Given the description of an element on the screen output the (x, y) to click on. 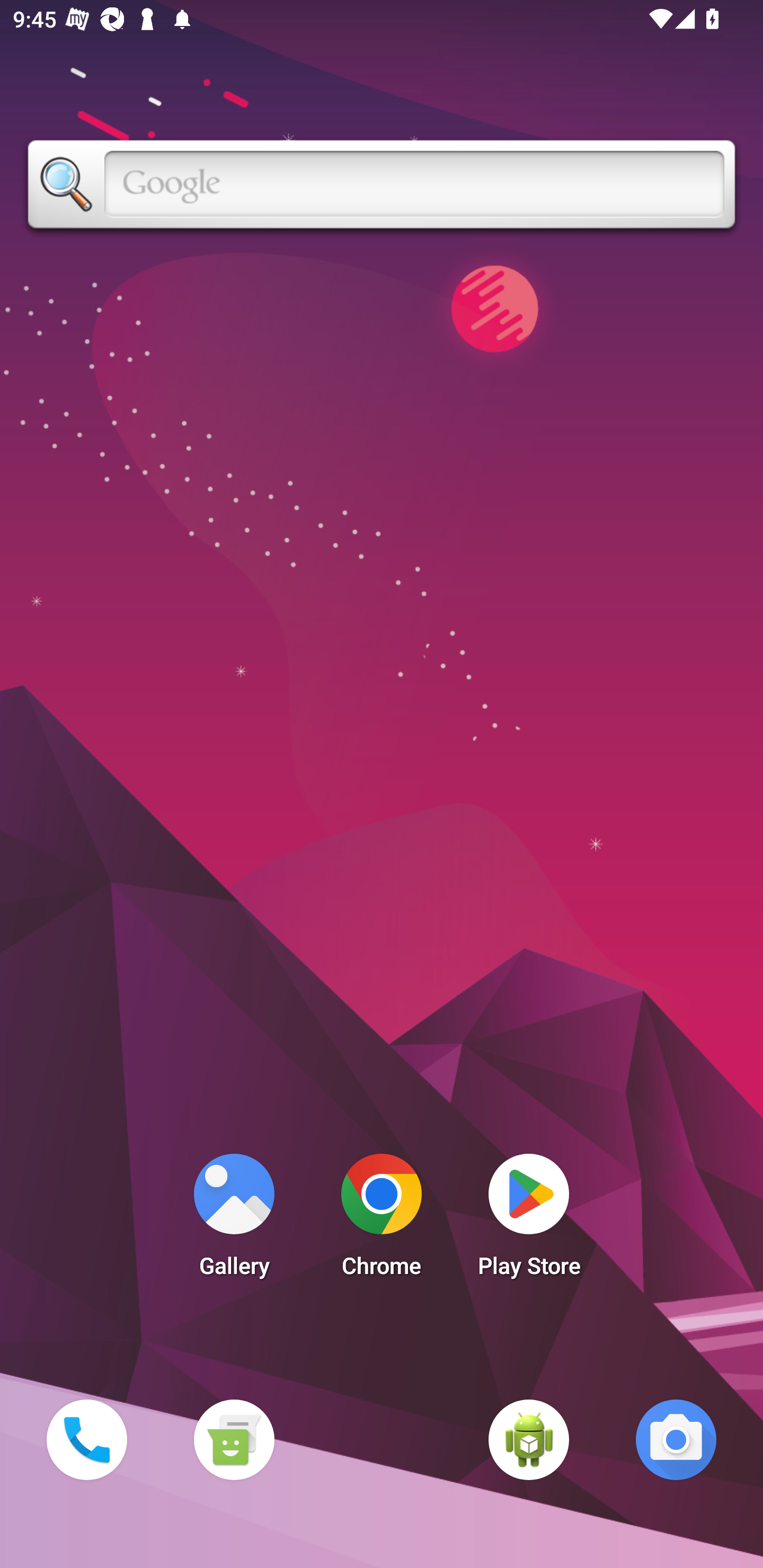
Gallery (233, 1220)
Chrome (381, 1220)
Play Store (528, 1220)
Phone (86, 1439)
Messaging (233, 1439)
WebView Browser Tester (528, 1439)
Camera (676, 1439)
